Given the description of an element on the screen output the (x, y) to click on. 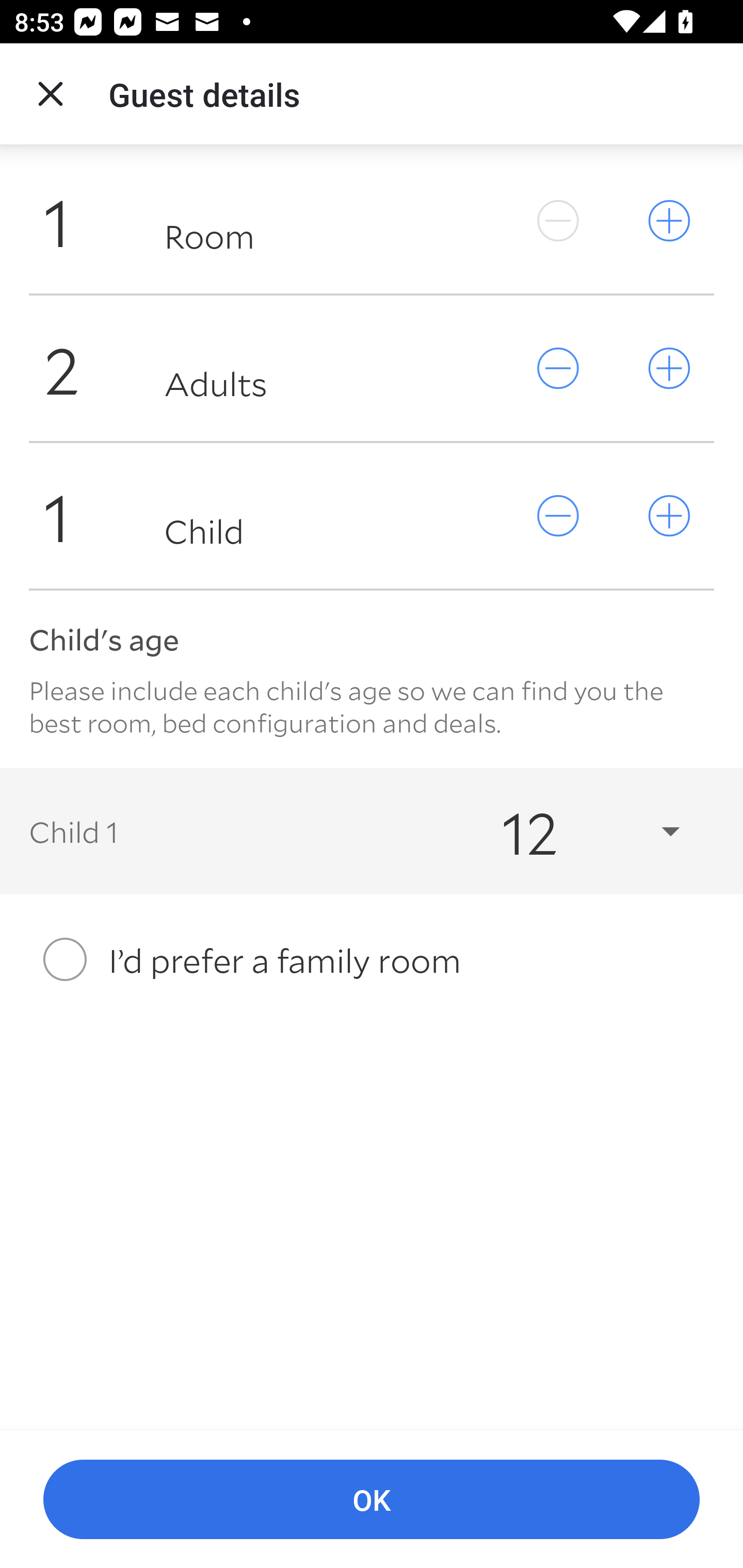
12 (573, 830)
I’d prefer a family room (371, 959)
OK (371, 1499)
